Given the description of an element on the screen output the (x, y) to click on. 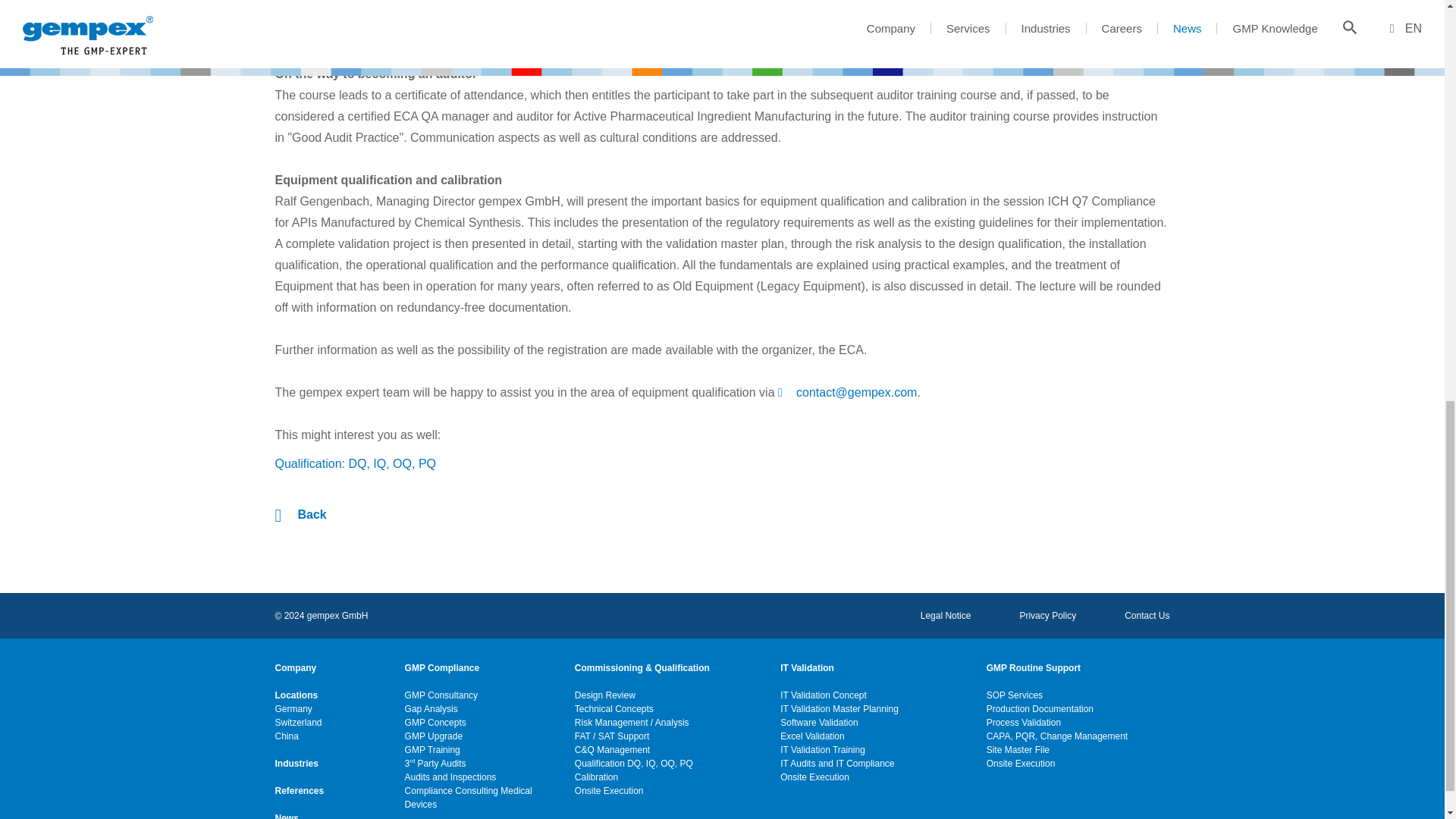
References (299, 790)
Design Review (604, 694)
Company (295, 667)
Audits and Inspections (450, 776)
GMP Concepts (434, 722)
back (300, 513)
GMP Upgrade (433, 735)
China (286, 735)
Industries (296, 763)
Gap Analysis (431, 708)
Technical Concepts (614, 708)
Germany (293, 708)
Switzerland (298, 722)
Compliance Consulting Medical Devices (478, 797)
News (286, 815)
